Given the description of an element on the screen output the (x, y) to click on. 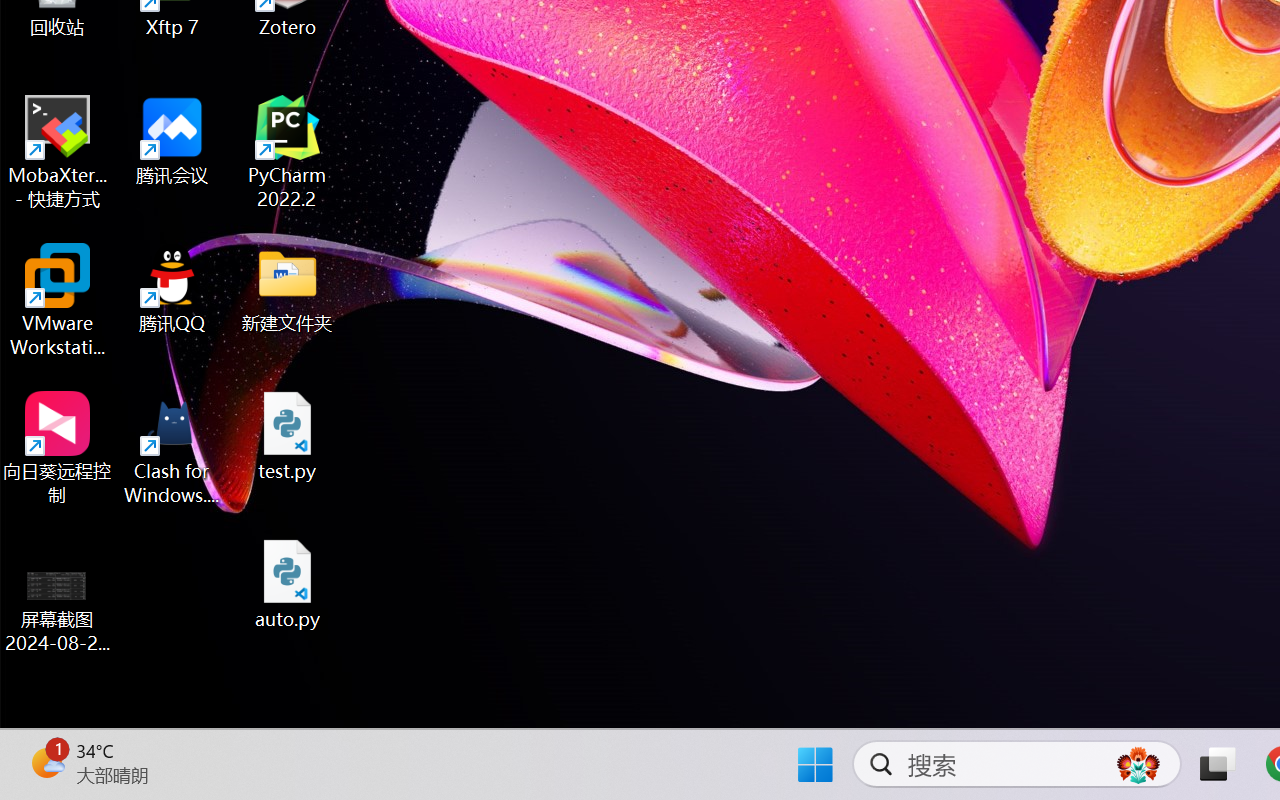
VMware Workstation Pro (57, 300)
auto.py (287, 584)
test.py (287, 436)
PyCharm 2022.2 (287, 152)
